Given the description of an element on the screen output the (x, y) to click on. 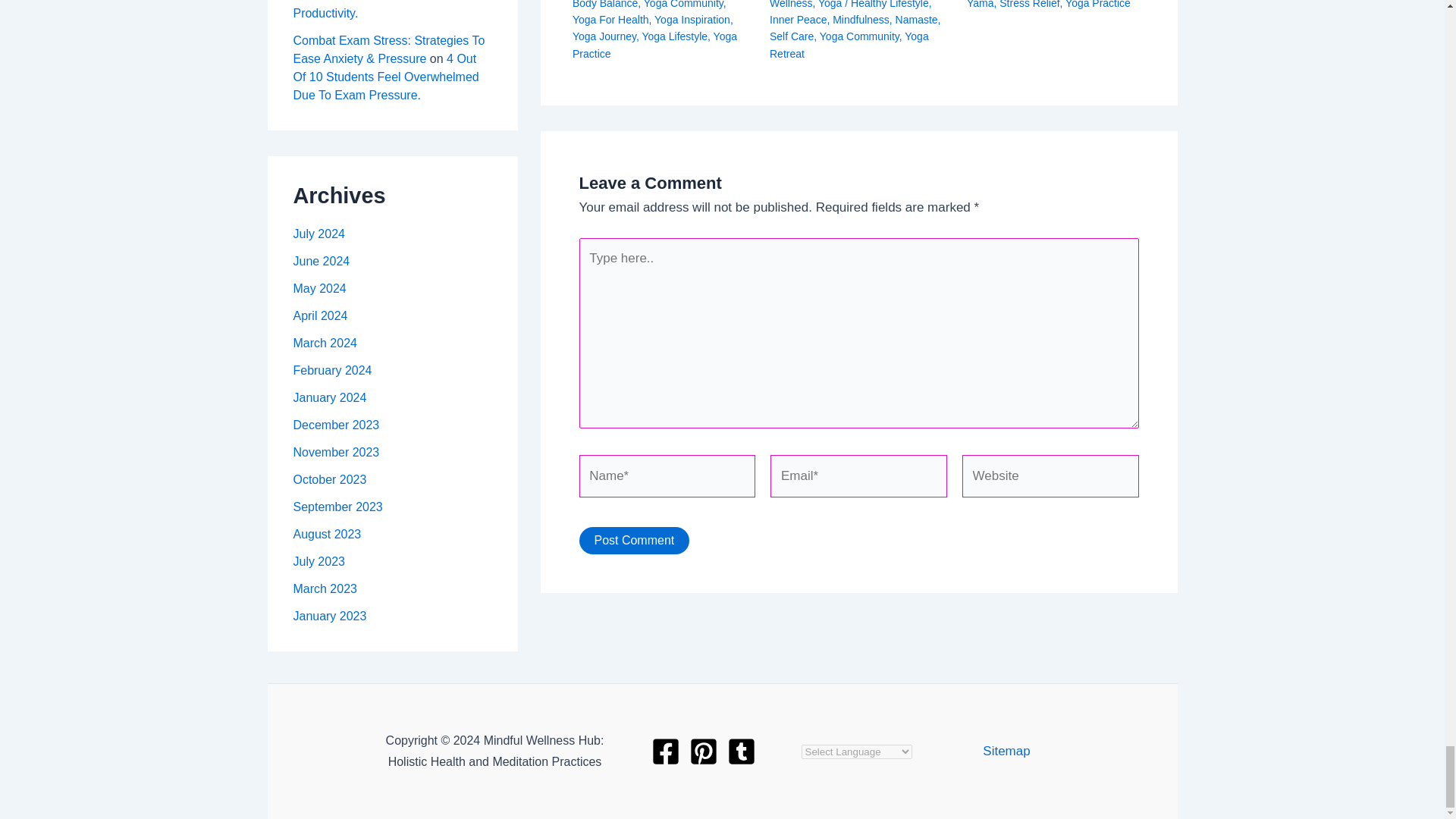
Post Comment (634, 540)
